Given the description of an element on the screen output the (x, y) to click on. 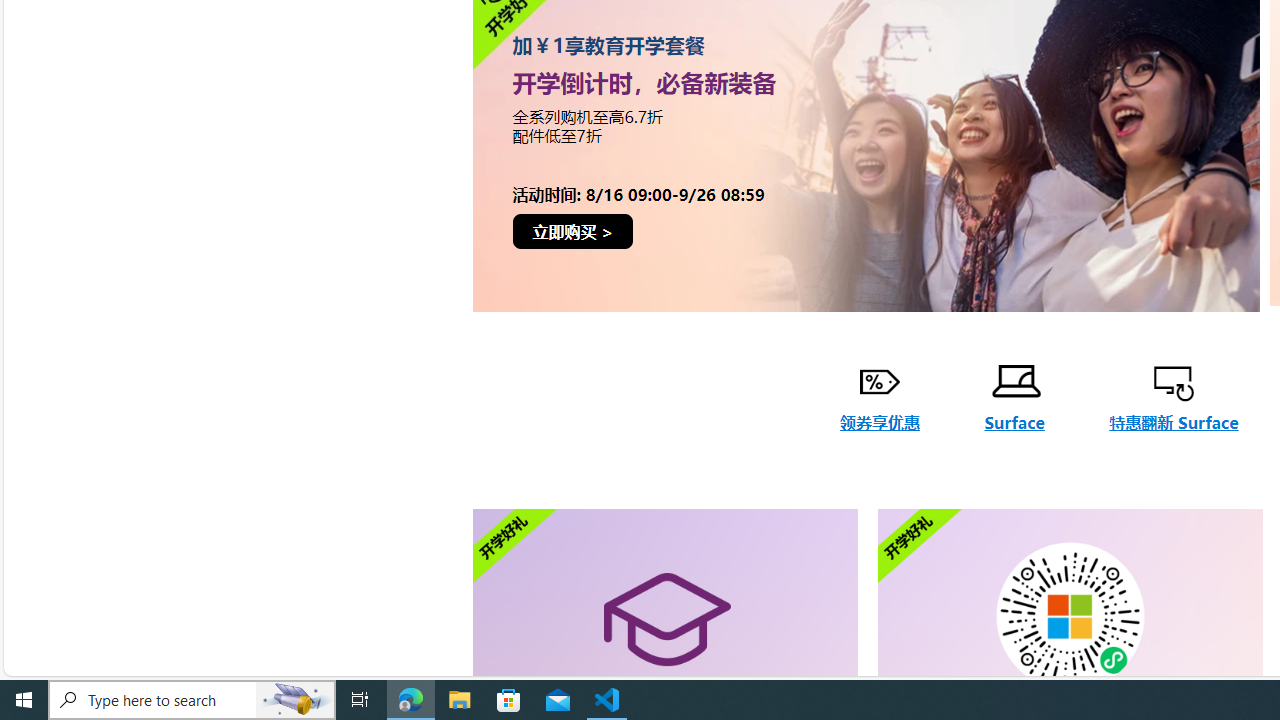
Surface (1014, 397)
